Given the description of an element on the screen output the (x, y) to click on. 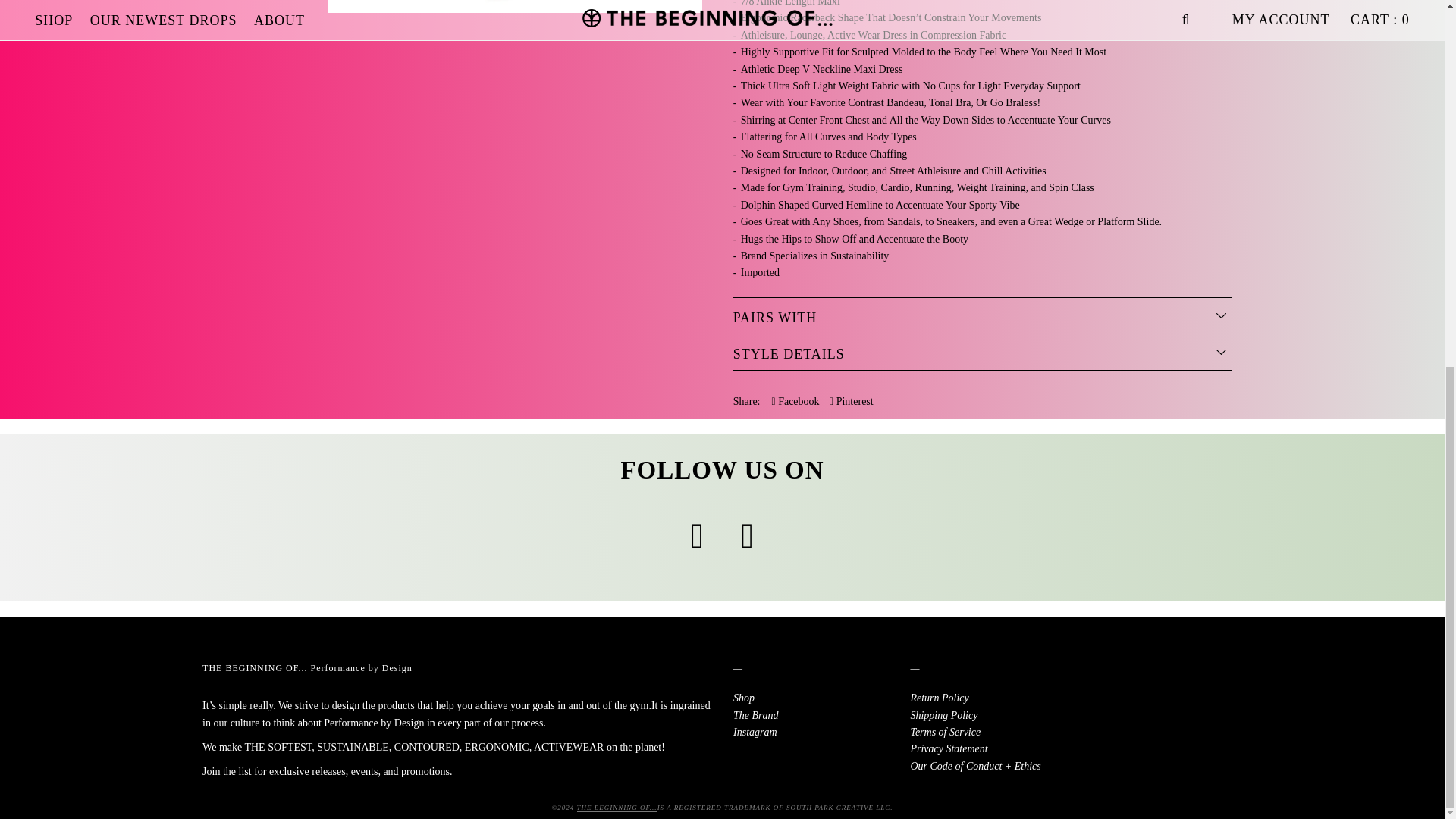
PAIRS WITH (982, 317)
Pinterest (851, 401)
Share on Pinterest (851, 401)
Share on Facebook (795, 401)
Shop (743, 697)
STYLE DETAILS (982, 354)
Instagram (755, 731)
The Brand (755, 715)
Facebook (795, 401)
